Given the description of an element on the screen output the (x, y) to click on. 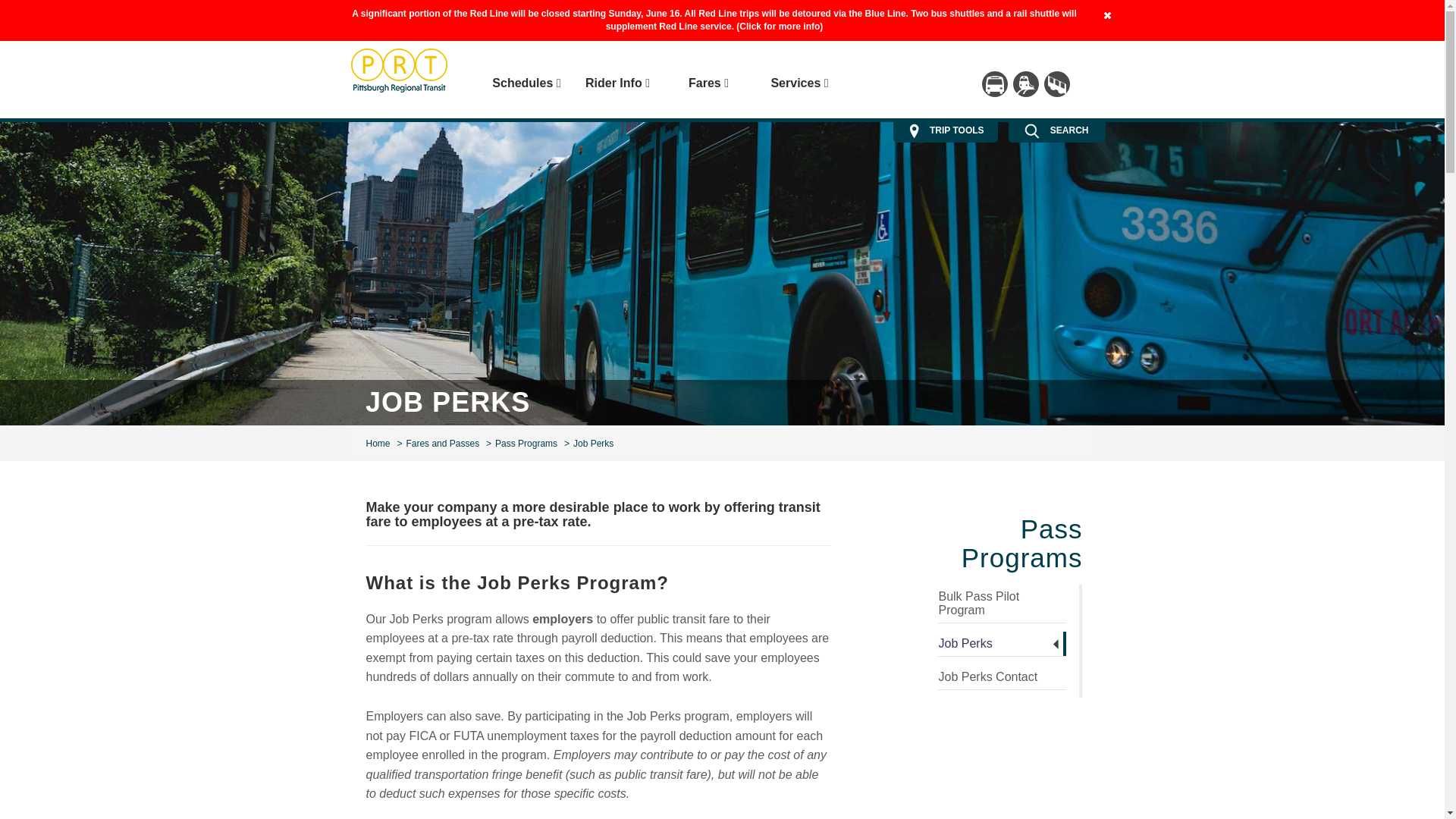
How to Ride the Bus (994, 84)
How to Ride the Incline (1055, 84)
How to Ride the Light Rail System (1026, 84)
